Given the description of an element on the screen output the (x, y) to click on. 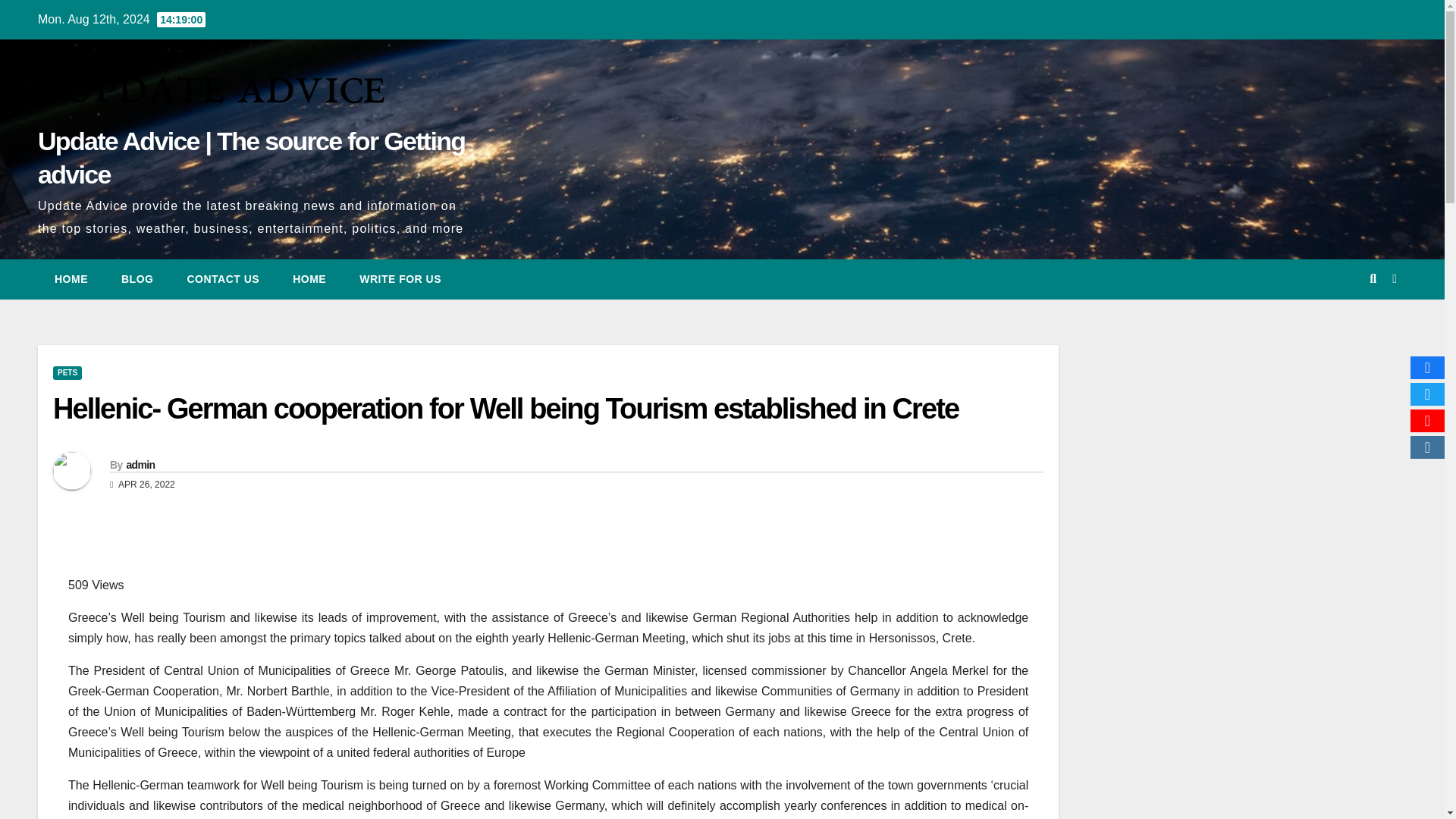
HOME (70, 278)
HOME (309, 278)
WRITE FOR US (400, 278)
admin (139, 464)
Home (70, 278)
PETS (66, 373)
BLOG (137, 278)
CONTACT US (223, 278)
